Given the description of an element on the screen output the (x, y) to click on. 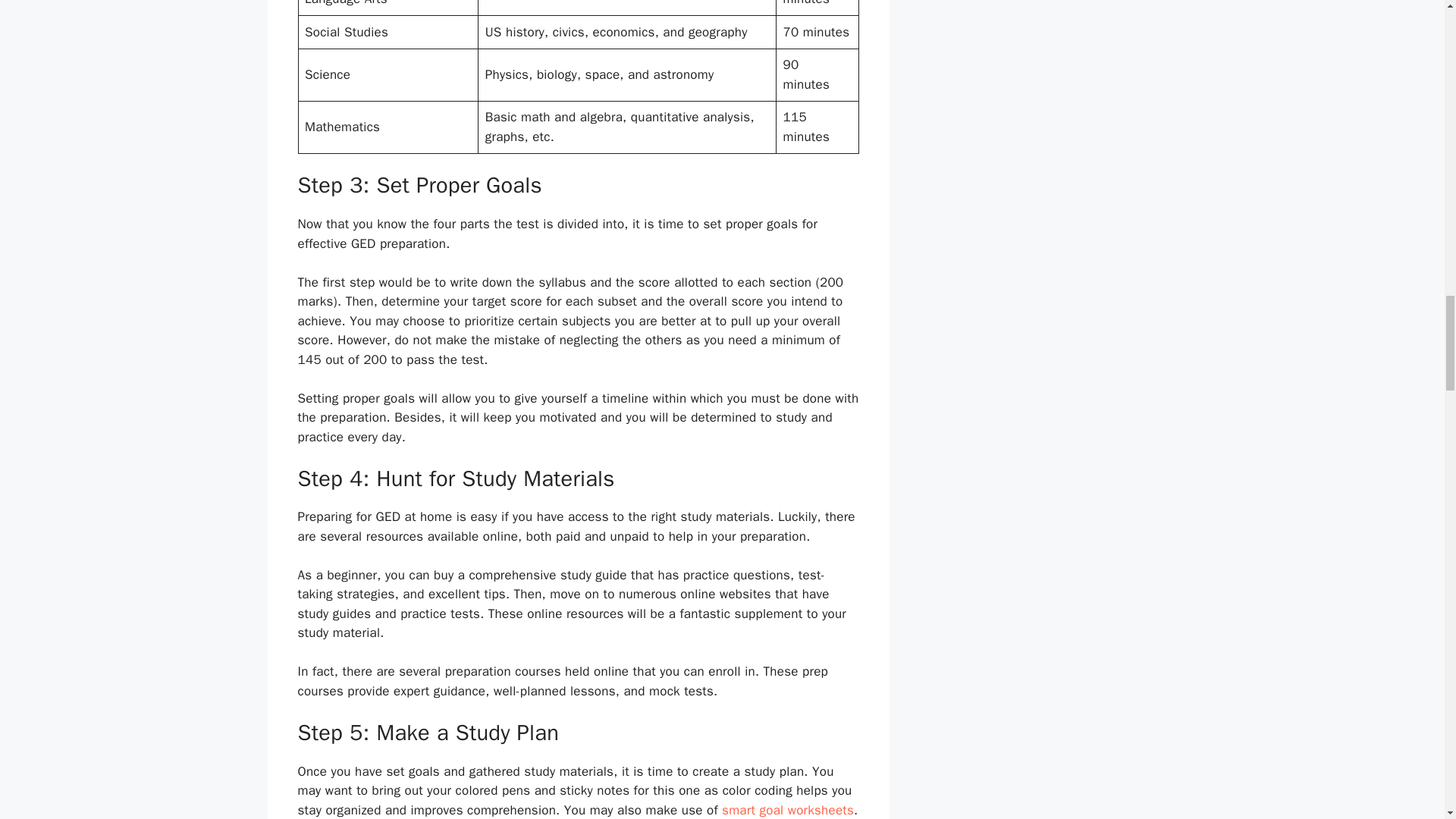
smart goal worksheets (787, 810)
